Given the description of an element on the screen output the (x, y) to click on. 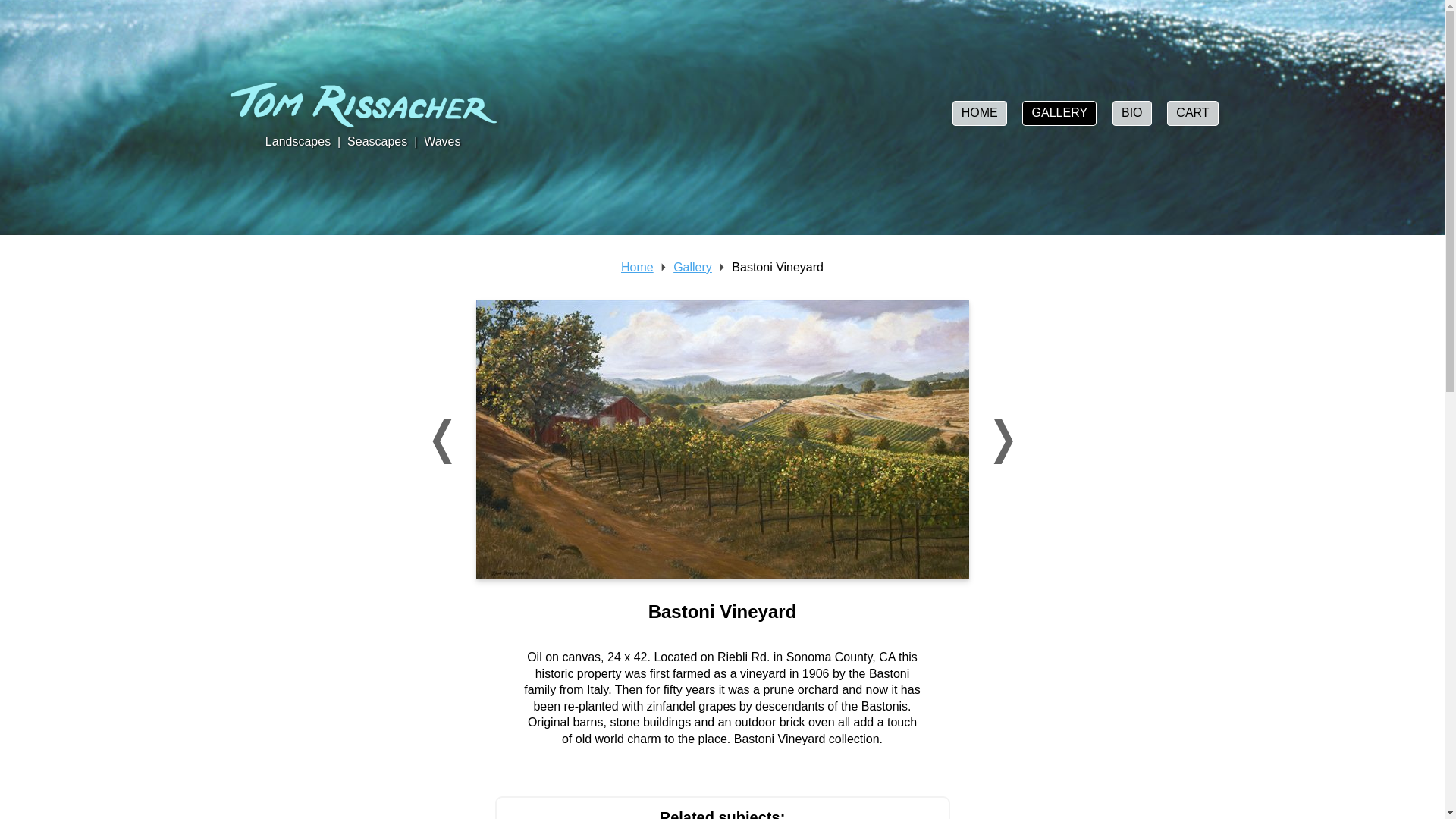
Seascapes (377, 141)
GALLERY (1059, 113)
Home (637, 267)
HOME (979, 113)
CART (1192, 113)
Waves (441, 141)
Gallery (691, 267)
Landscapes (297, 141)
BIO (1131, 113)
